Given the description of an element on the screen output the (x, y) to click on. 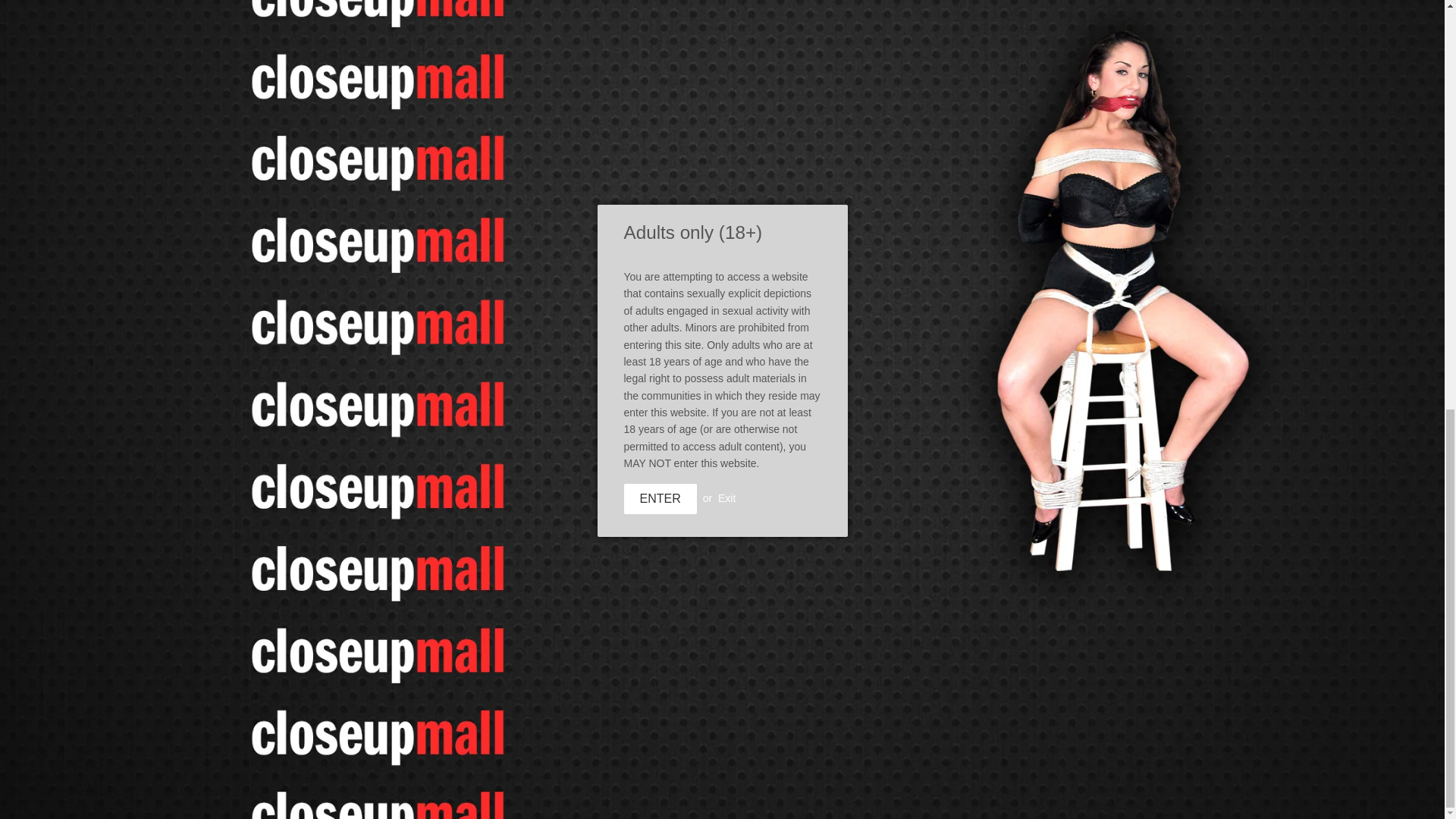
Pin on Pinterest (803, 503)
Visa (1085, 794)
Discover (966, 794)
Mastercard (1046, 794)
JCB (1005, 794)
Tweet on Twitter (742, 503)
Share on Facebook (679, 503)
American Express (886, 794)
Diners Club (925, 794)
